Given the description of an element on the screen output the (x, y) to click on. 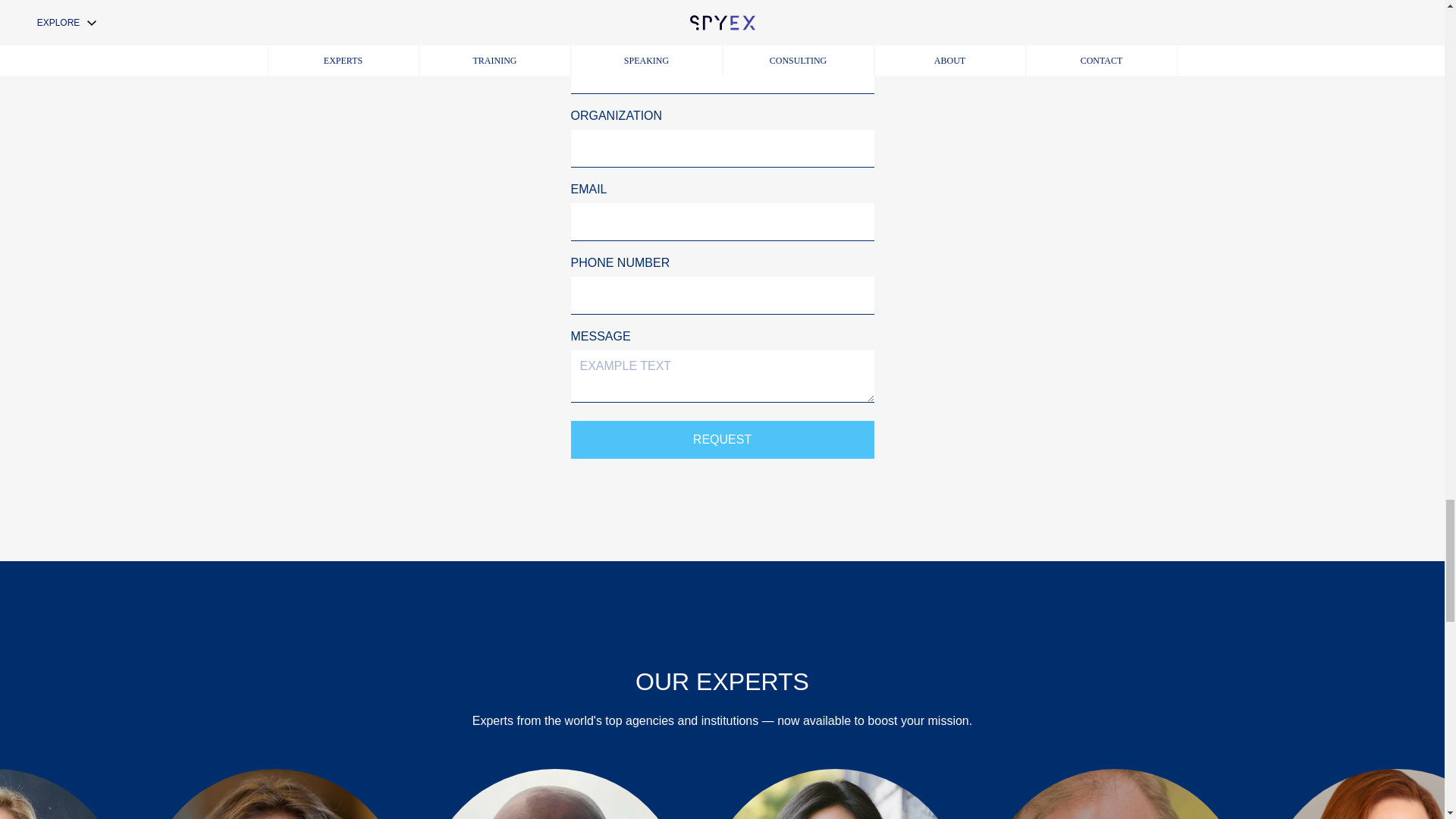
Request (721, 438)
Request (721, 438)
